Given the description of an element on the screen output the (x, y) to click on. 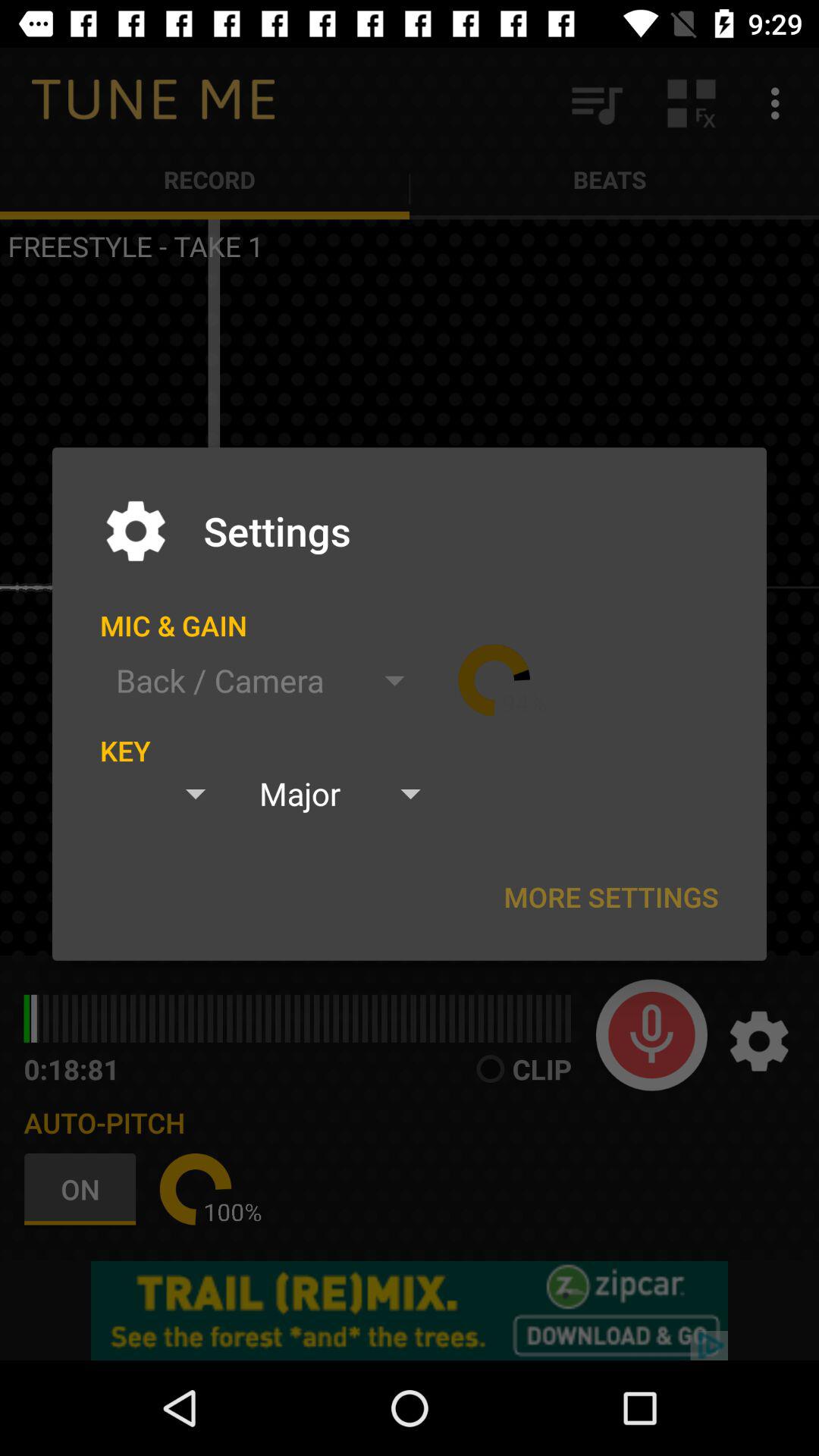
choose the icon above the beats app (691, 103)
